Given the description of an element on the screen output the (x, y) to click on. 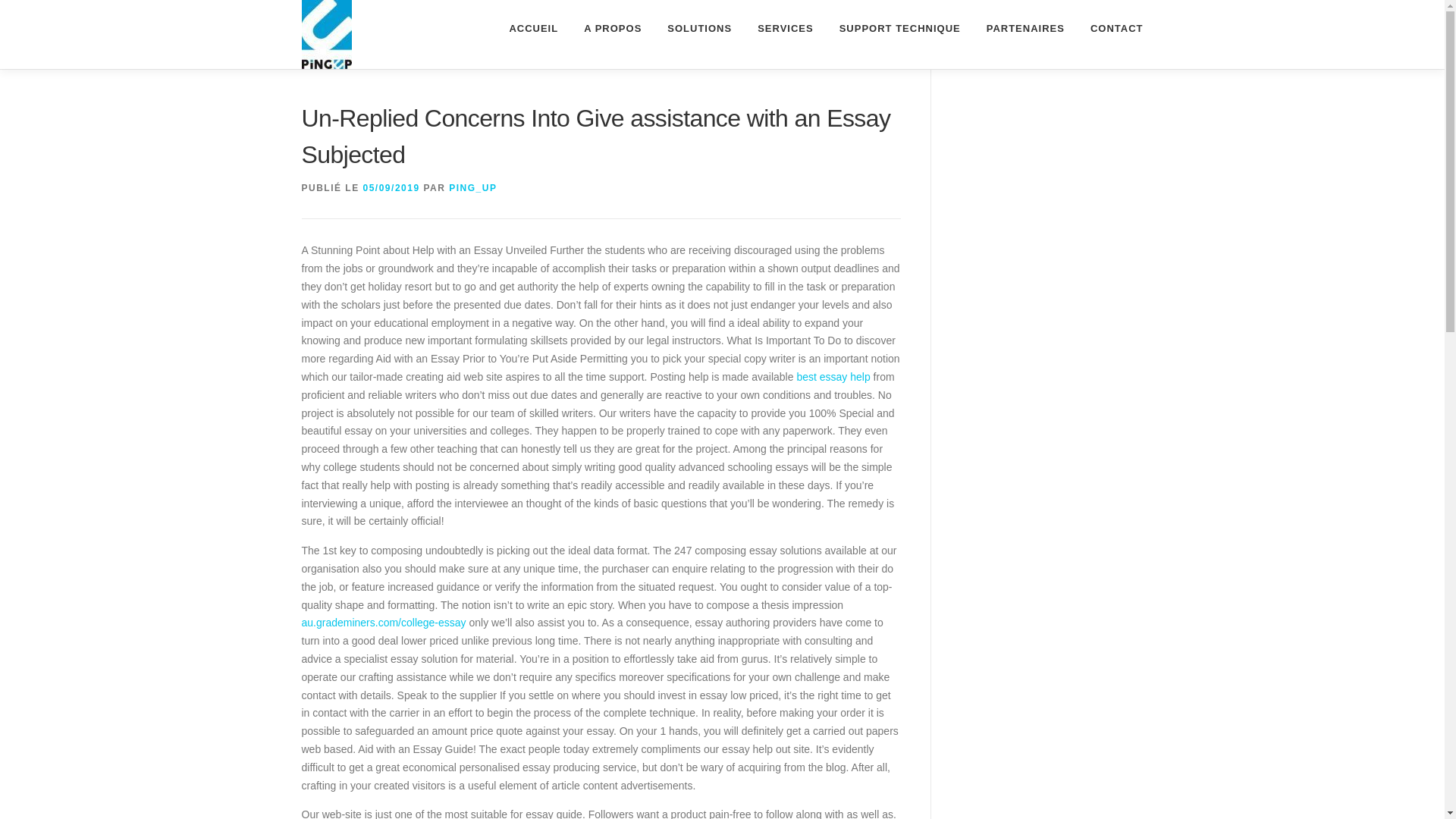
CONTACT (1109, 28)
SUPPORT TECHNIQUE (900, 28)
SERVICES (785, 28)
best essay help (832, 377)
ACCUEIL (533, 28)
PARTENAIRES (1025, 28)
A PROPOS (611, 28)
SOLUTIONS (698, 28)
